Given the description of an element on the screen output the (x, y) to click on. 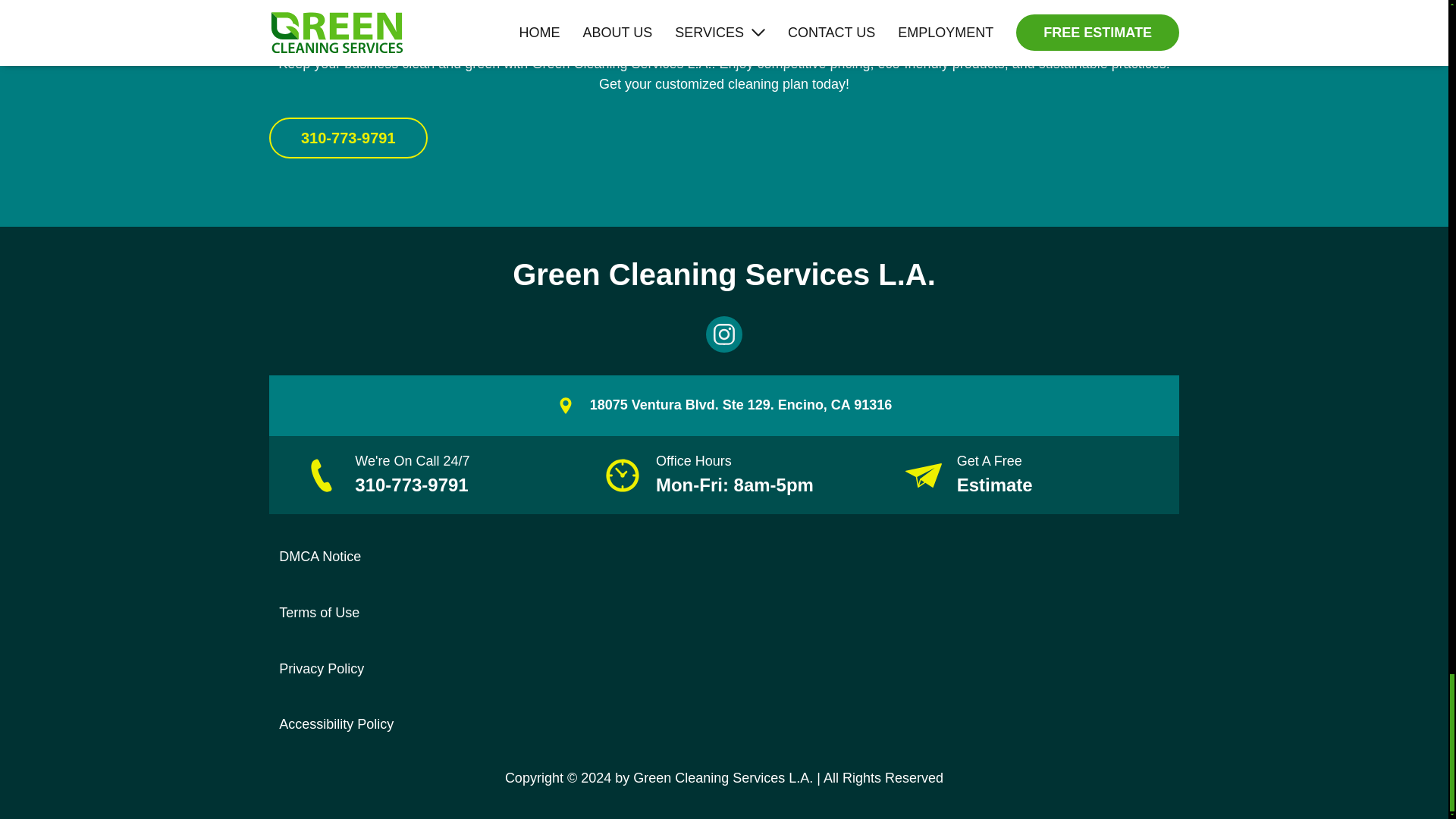
310-773-9791 (411, 484)
Follow us on Instagram (724, 334)
Accessibility Policy (336, 724)
310-773-9791 (348, 137)
Privacy Policy (321, 668)
18075 Ventura Blvd. Ste 129. Encino, CA 91316 (740, 404)
Estimate (994, 484)
Terms of Use (319, 612)
DMCA Notice (320, 556)
